Given the description of an element on the screen output the (x, y) to click on. 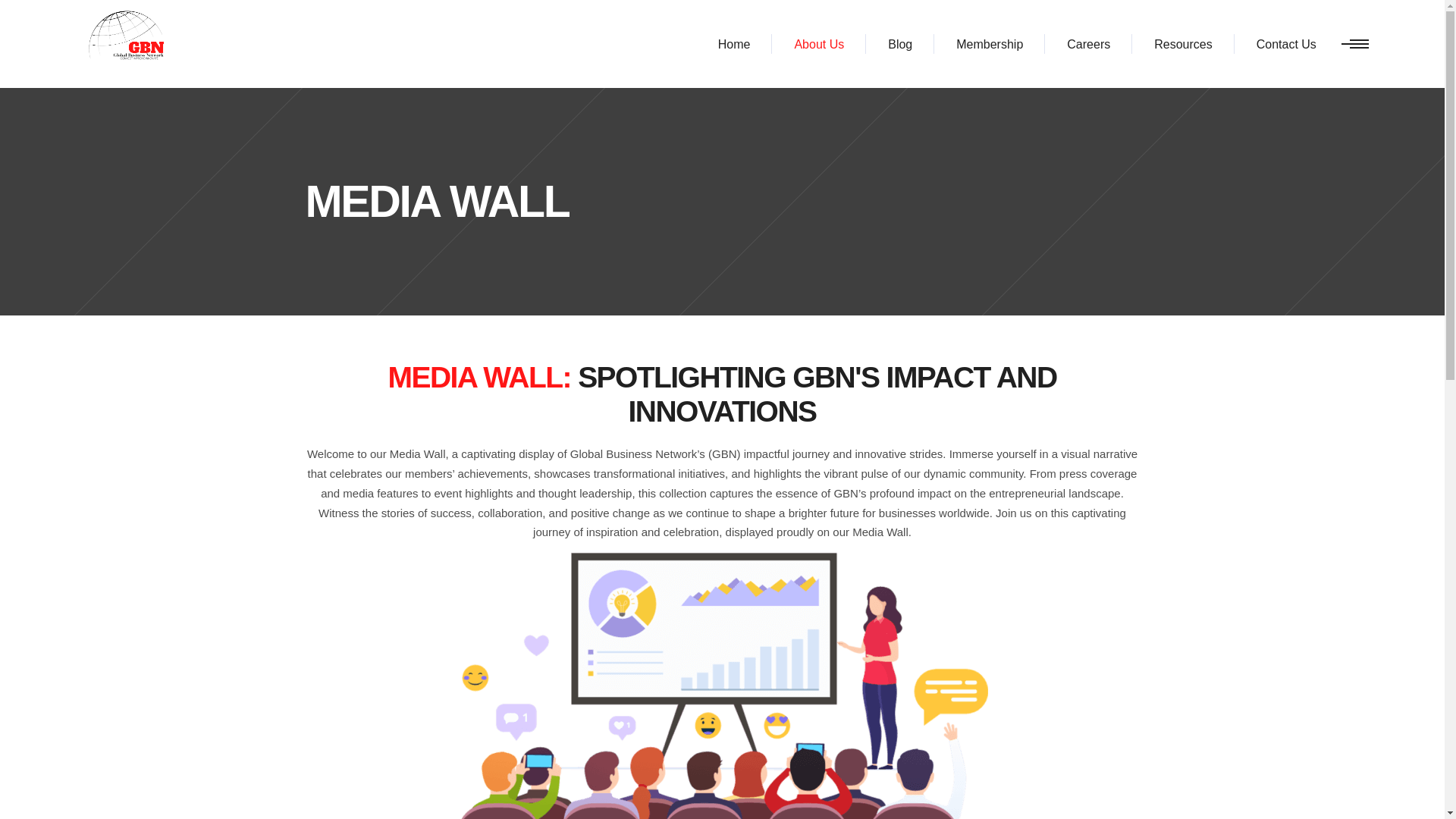
Resources (1182, 43)
About Us (818, 43)
Careers (1088, 43)
Membership (989, 43)
Contact Us (1286, 43)
